Given the description of an element on the screen output the (x, y) to click on. 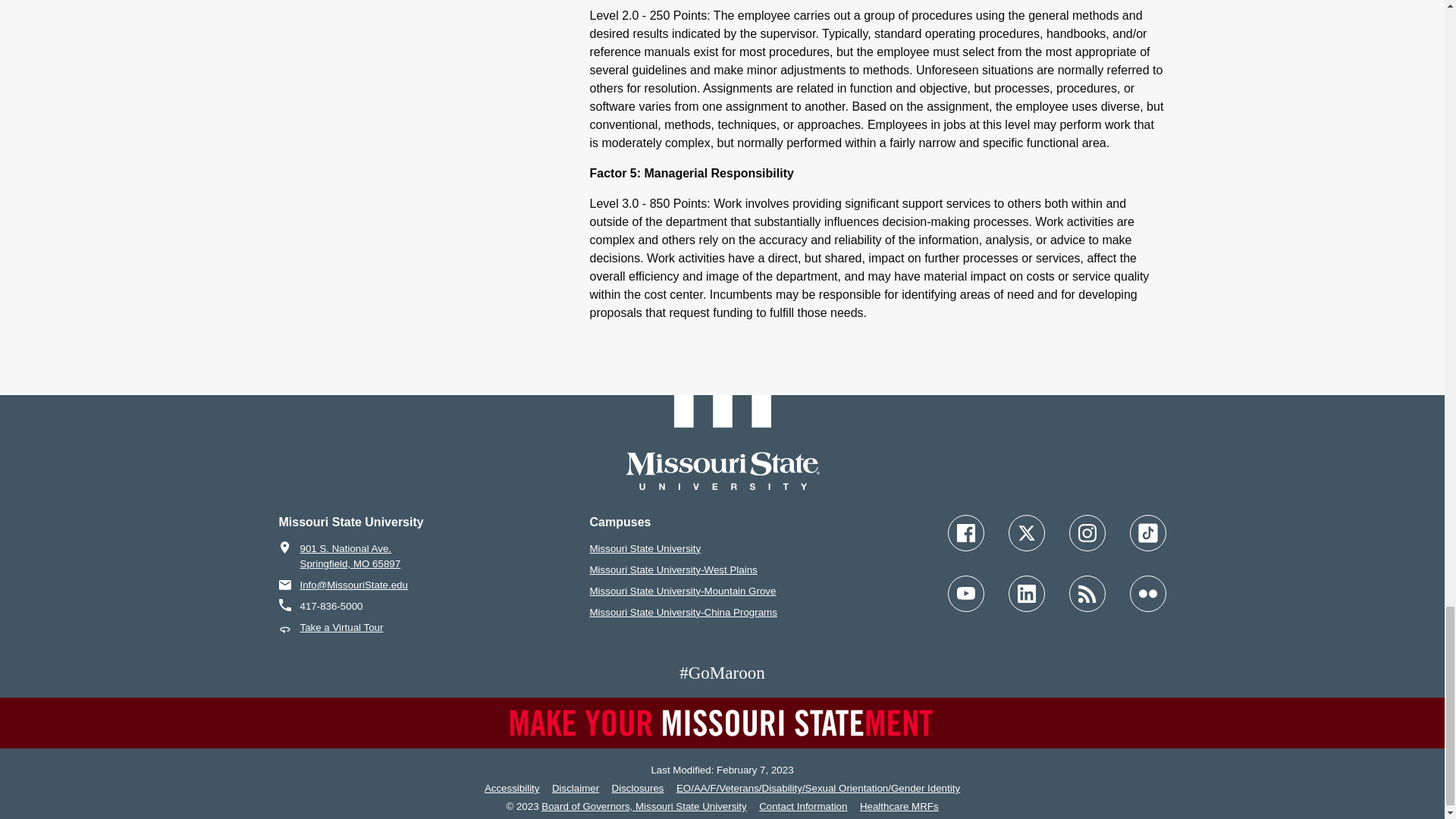
Follow Missouri State on TikTok (1147, 532)
Follow Missouri State on X (1027, 532)
Follow Missouri State on Flickr (1147, 592)
Follow Missouri State Blogs (1086, 592)
Follow Missouri State on Facebook (965, 532)
Follow Missouri State on Instagram (1086, 532)
Follow Missouri State on YouTube (965, 592)
Follow Missouri State on LinkedIn (1027, 592)
